Given the description of an element on the screen output the (x, y) to click on. 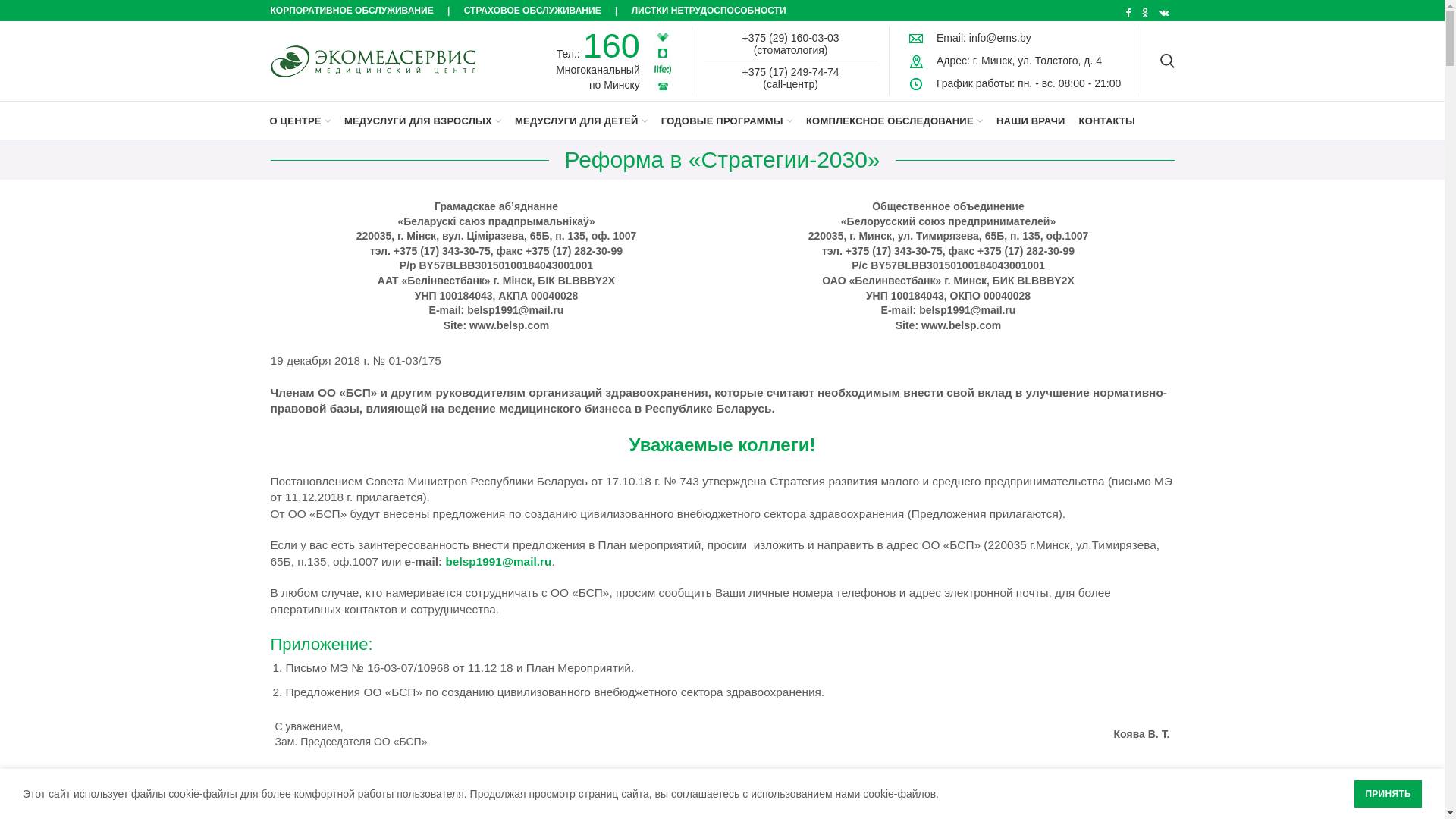
+375 (29) 160-03-03 Element type: text (790, 37)
Facebook Element type: text (1128, 12)
belsp1991@mail.ru Element type: text (498, 561)
VK Element type: text (1164, 12)
info@ems.by Element type: text (1000, 37)
160 Element type: text (611, 45)
Odnoklassniki Element type: text (1144, 12)
+375 (17) 249-74-74 Element type: text (790, 71)
